Given the description of an element on the screen output the (x, y) to click on. 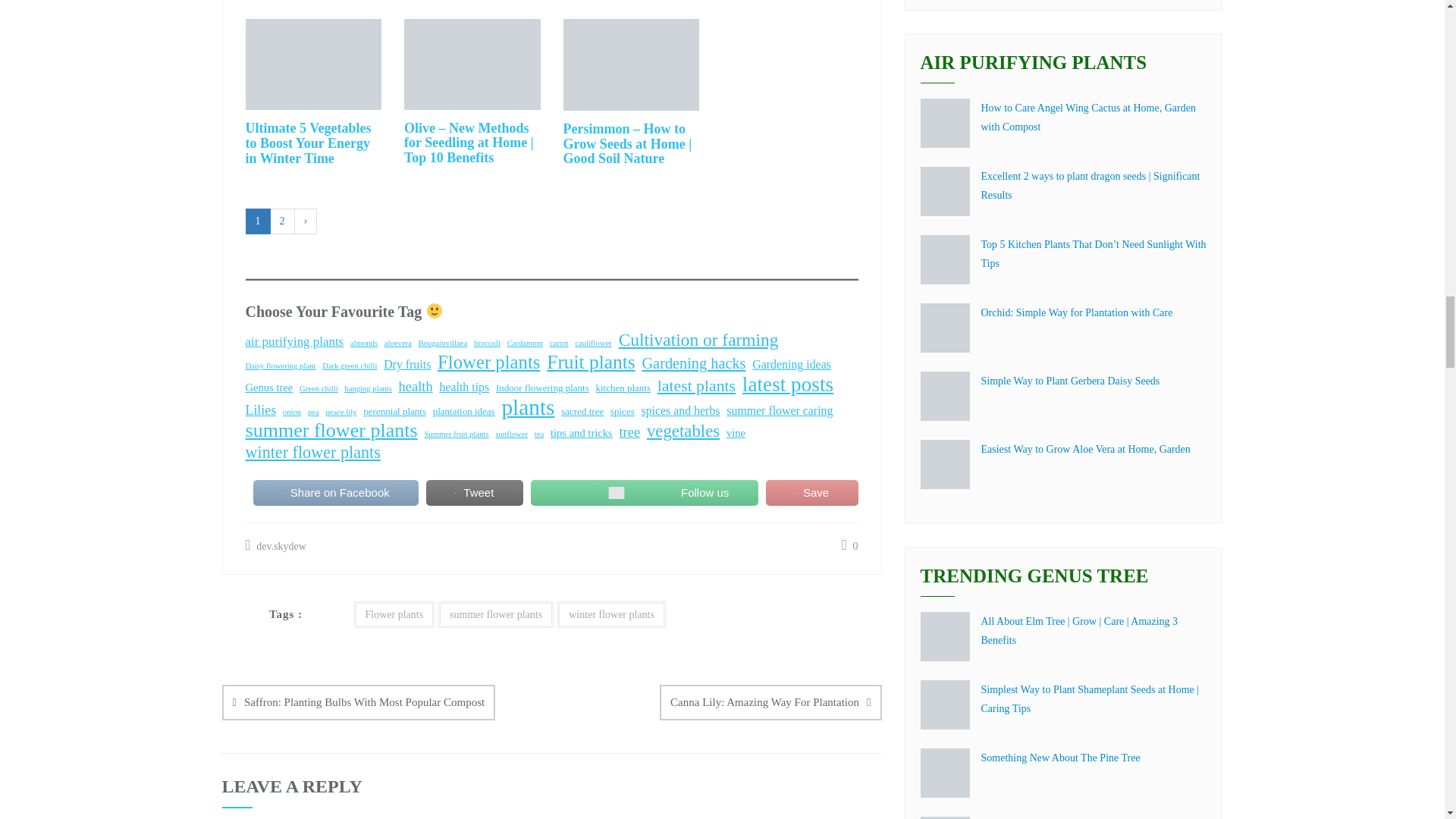
Current page is 1 (258, 221)
Go to next page (305, 221)
Go to page 2 (282, 221)
